Given the description of an element on the screen output the (x, y) to click on. 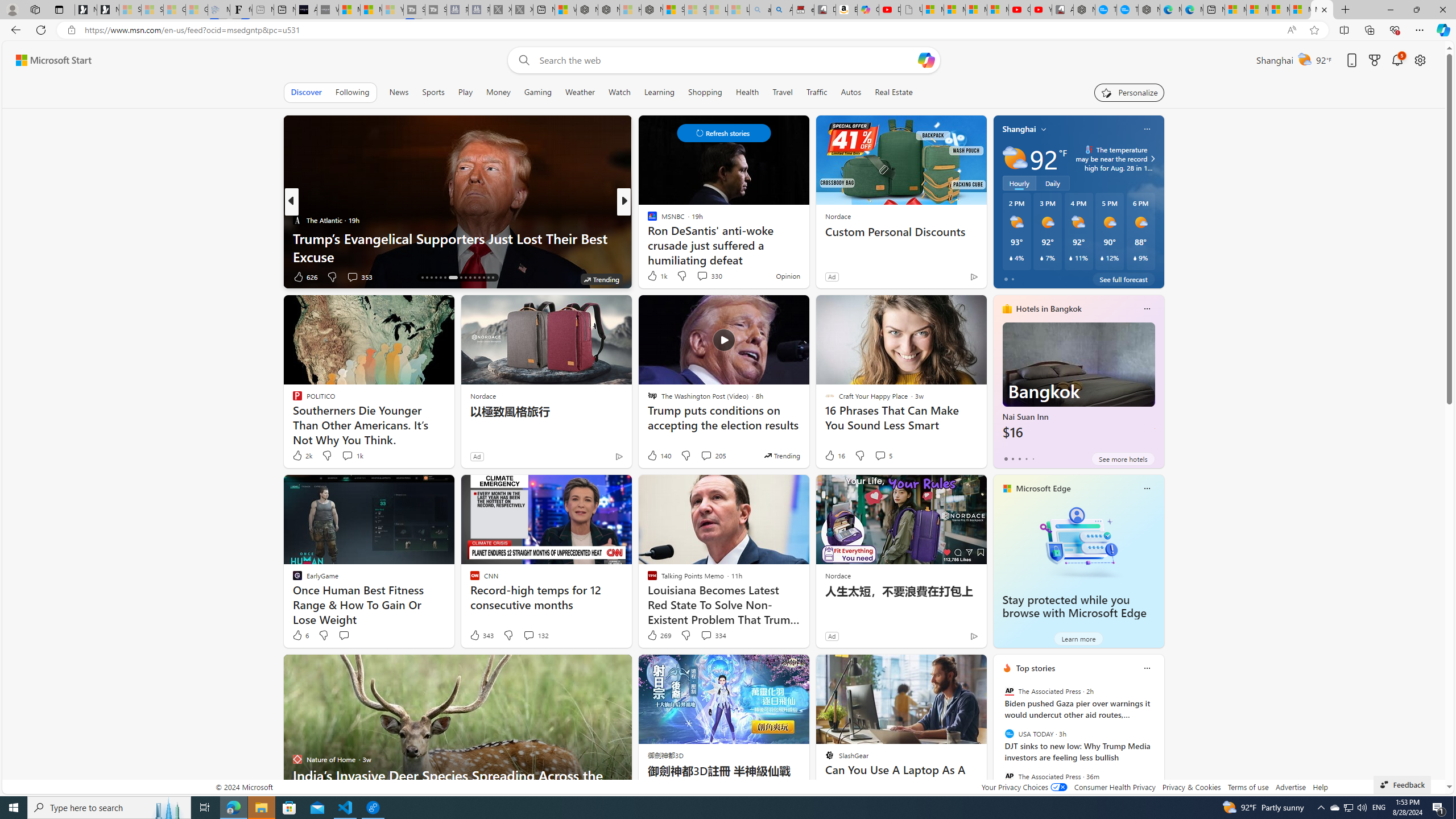
Hotels in Bangkok (1048, 308)
View comments 132 Comment (528, 635)
269 Like (658, 634)
You're following FOX News (253, 279)
All Cubot phones (1062, 9)
Learn more (1078, 638)
Newsweek (647, 219)
Ad (831, 636)
AutomationID: tab-26 (474, 277)
1k Like (656, 275)
Privacy & Cookies (1191, 786)
